Given the description of an element on the screen output the (x, y) to click on. 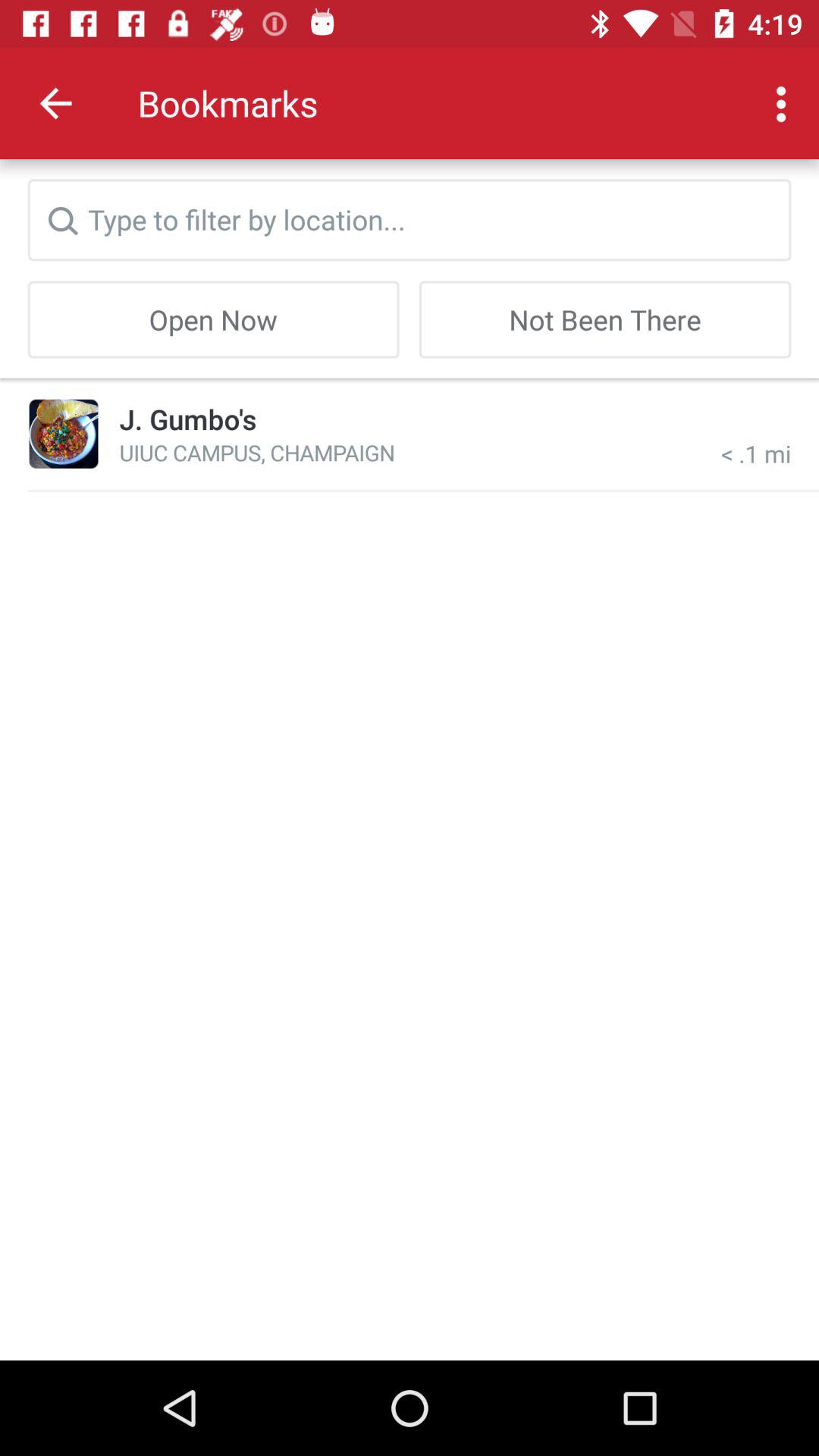
choose item next to the open now (605, 319)
